Given the description of an element on the screen output the (x, y) to click on. 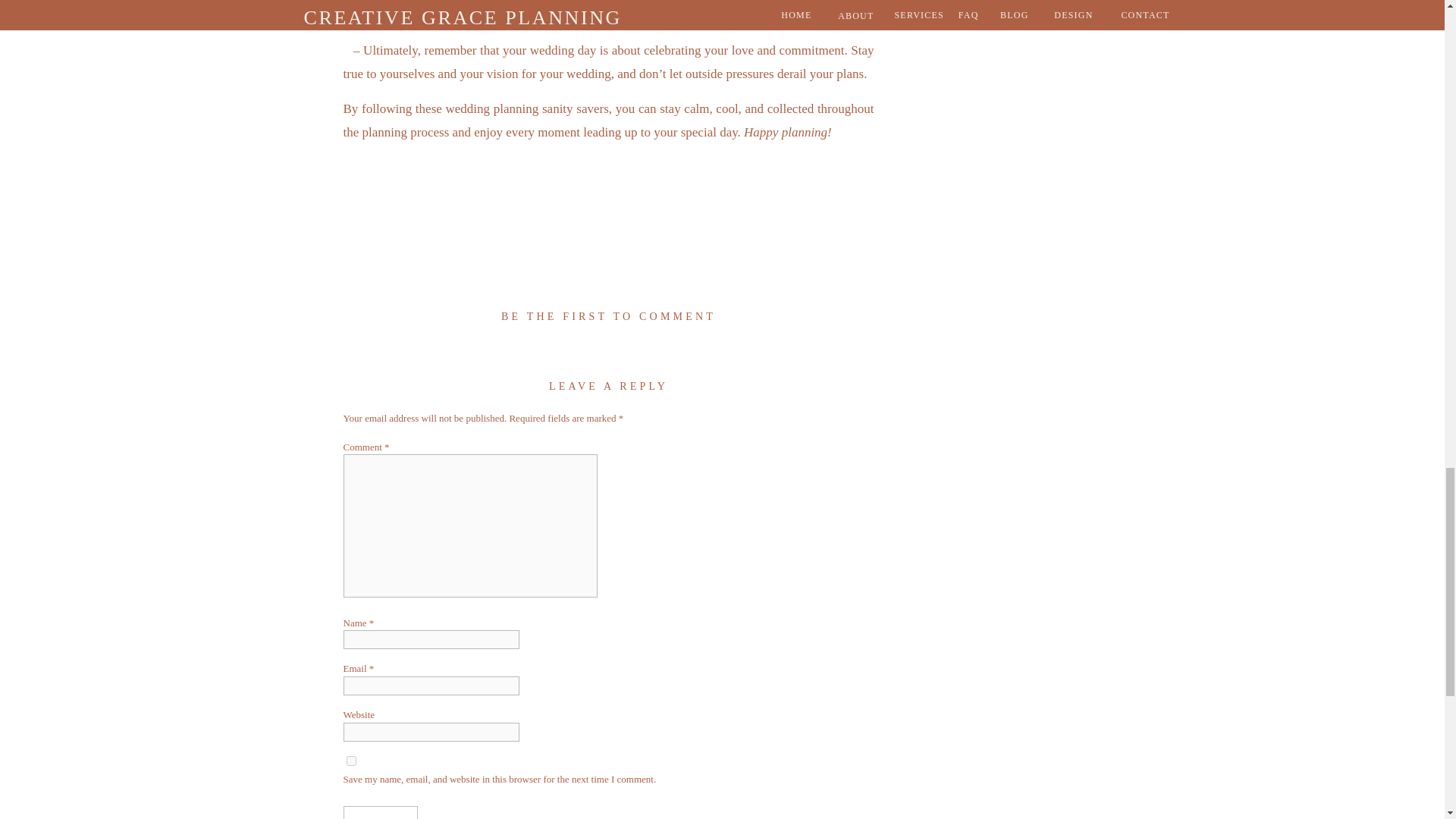
BE THE FIRST TO COMMENT (608, 316)
yes (350, 760)
Post Comment (379, 812)
Post Comment (379, 812)
